Given the description of an element on the screen output the (x, y) to click on. 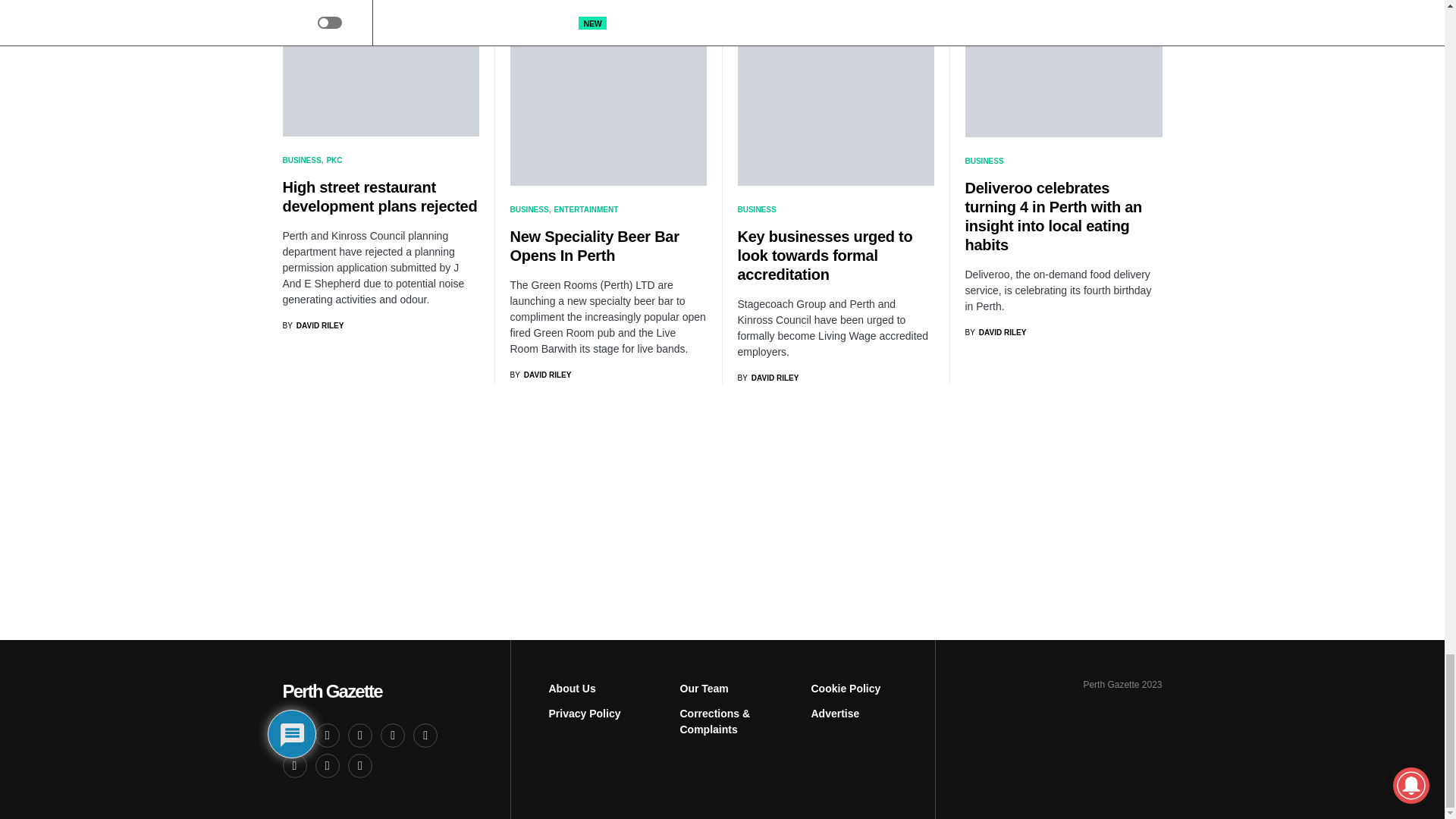
View all posts by David Riley (312, 325)
View all posts by David Riley (539, 374)
View all posts by David Riley (994, 332)
View all posts by David Riley (766, 378)
